Given the description of an element on the screen output the (x, y) to click on. 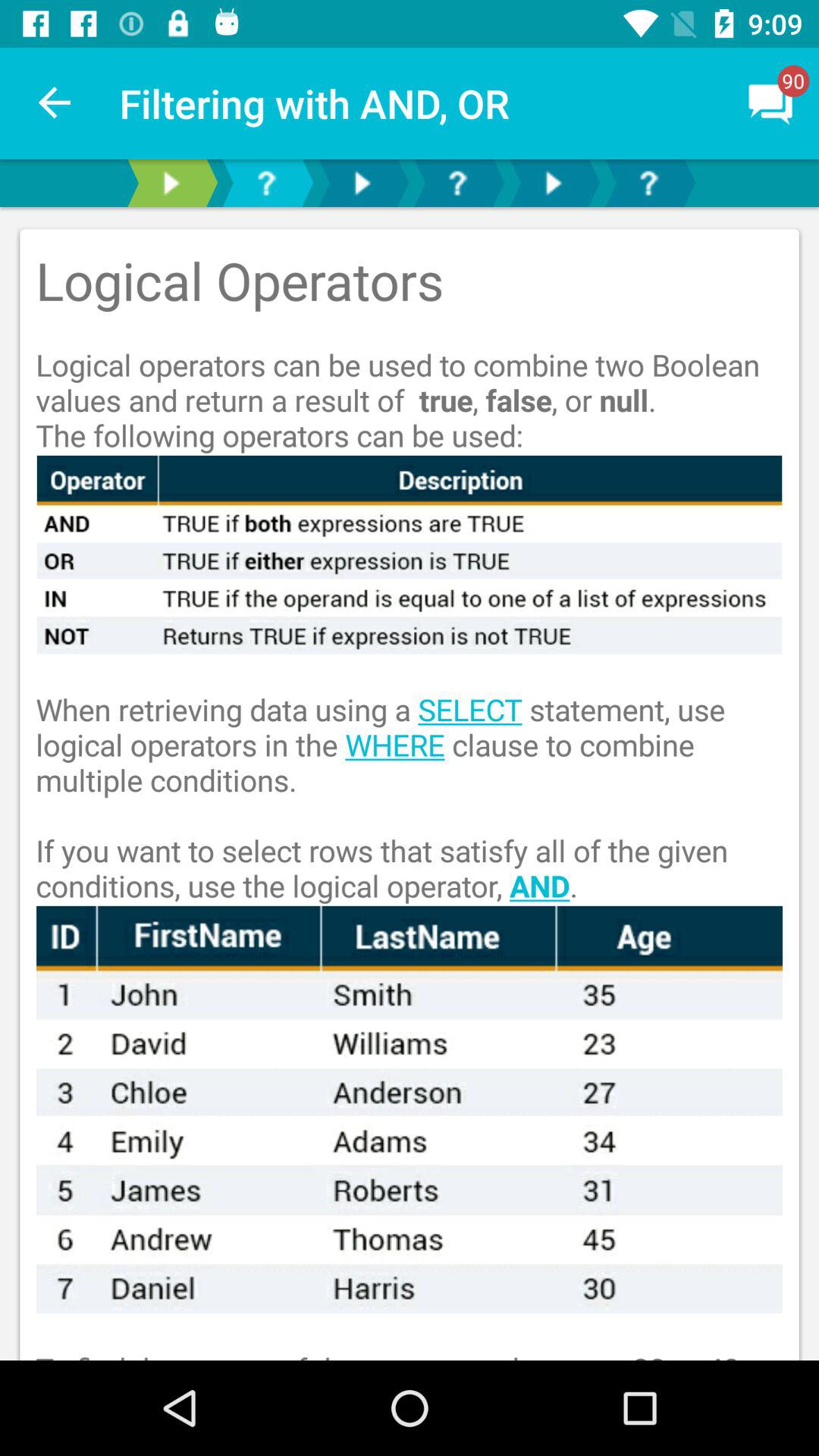
launch item above the logical operators  item (55, 103)
